Given the description of an element on the screen output the (x, y) to click on. 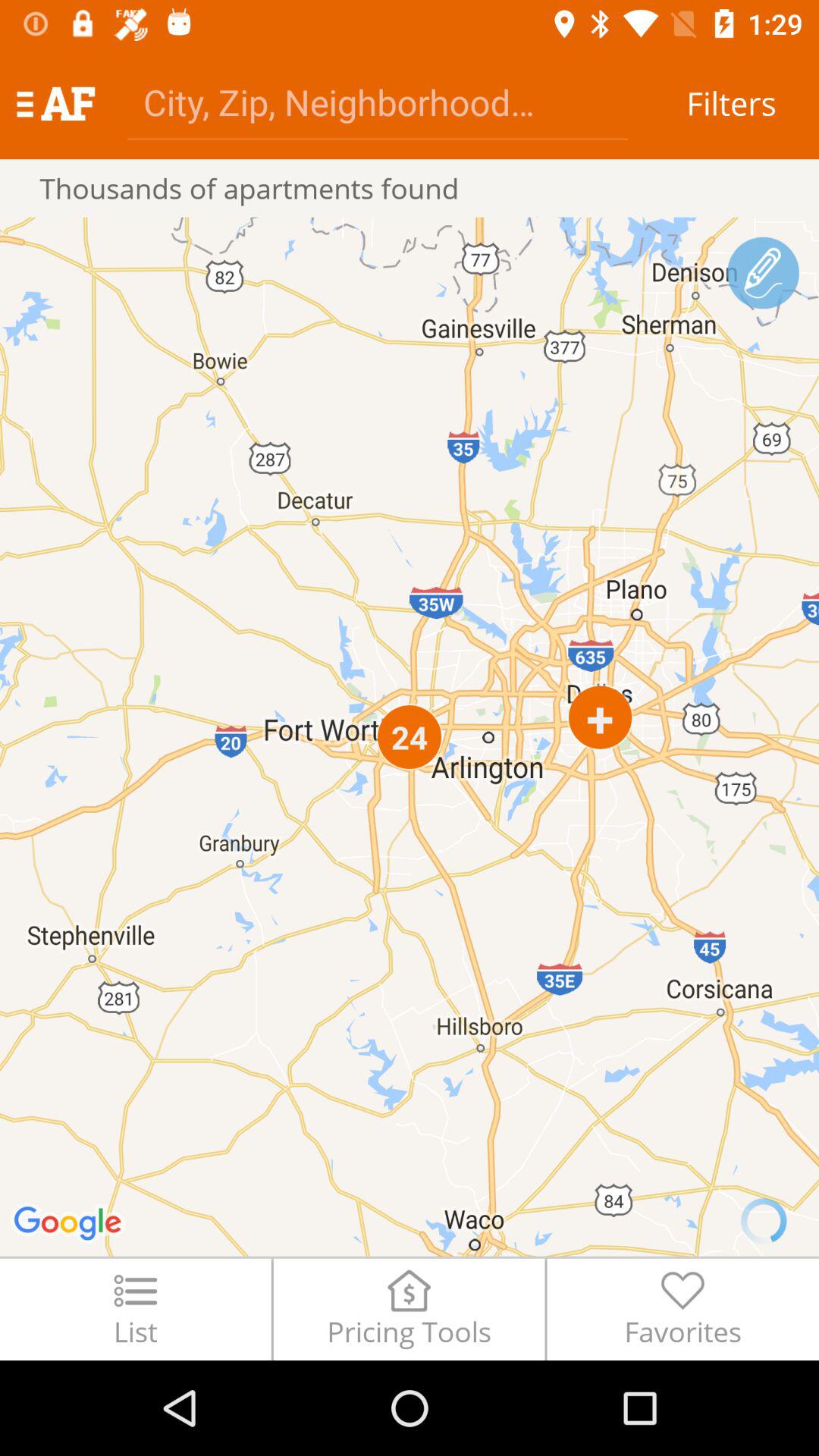
draw tool (763, 272)
